Given the description of an element on the screen output the (x, y) to click on. 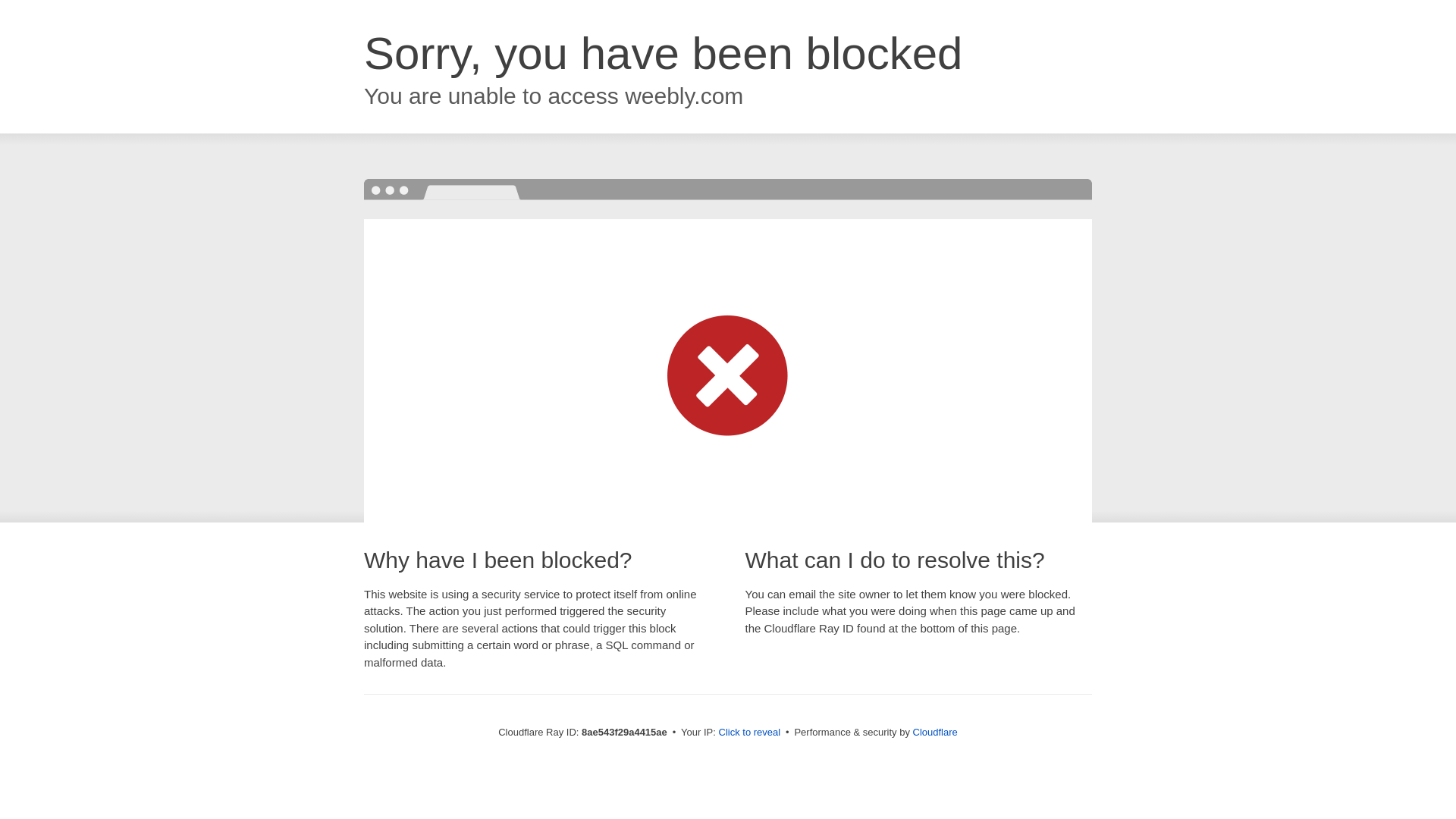
Cloudflare (935, 731)
Click to reveal (749, 732)
